Given the description of an element on the screen output the (x, y) to click on. 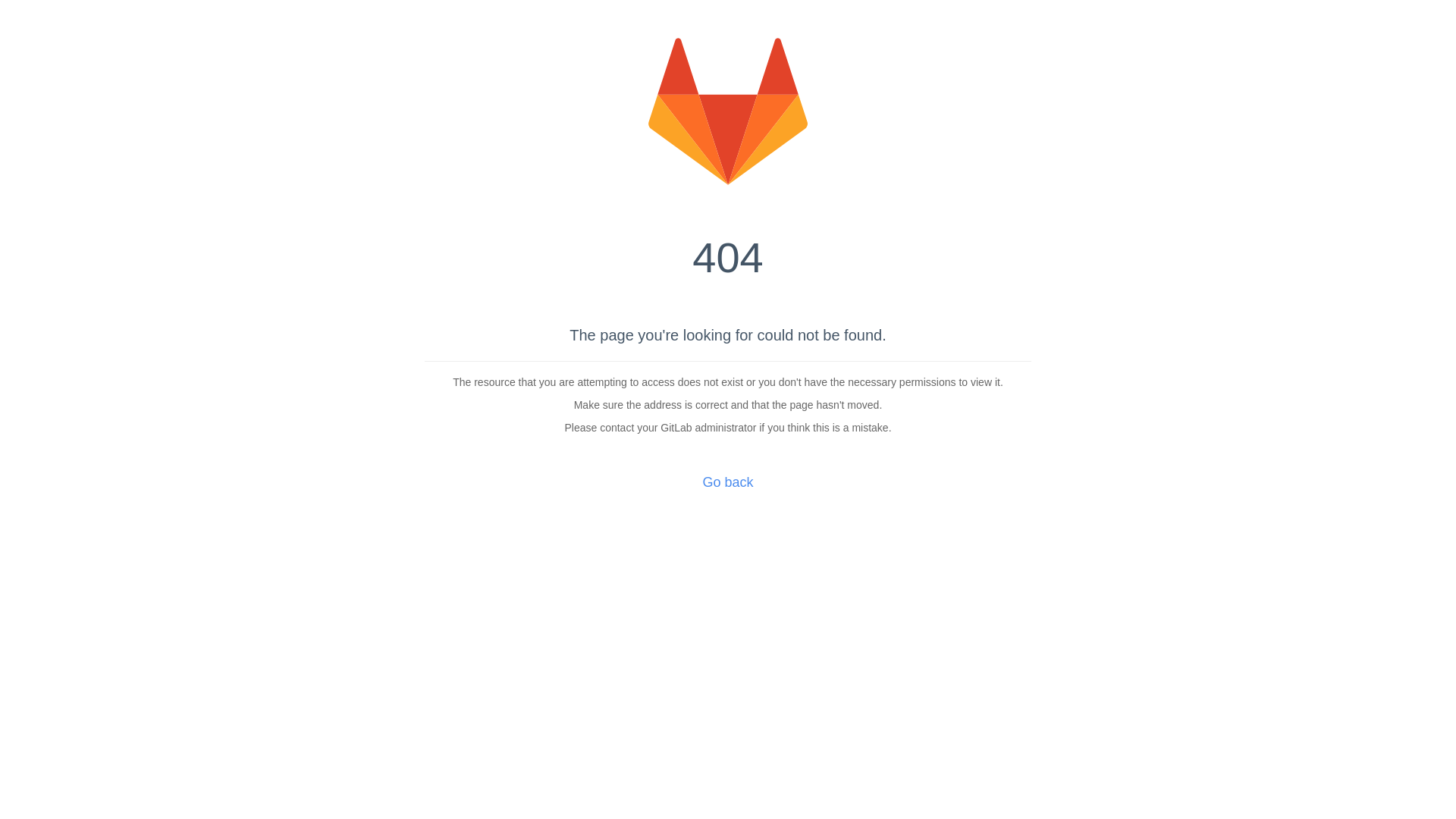
Go back Element type: text (727, 481)
